Given the description of an element on the screen output the (x, y) to click on. 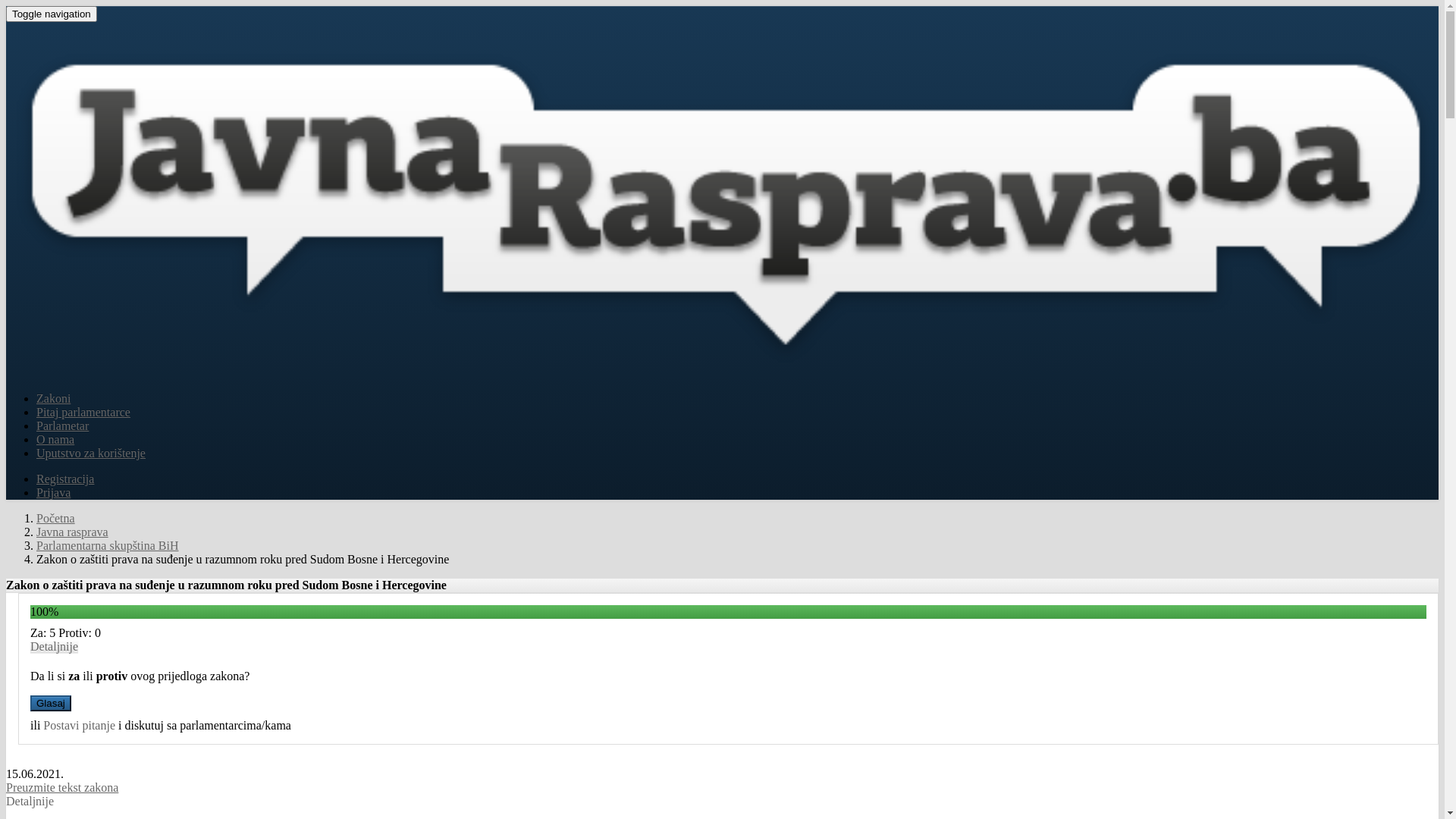
Parlametar Element type: text (62, 425)
Detaljnije Element type: text (29, 800)
Pitaj parlamentarce Element type: text (83, 411)
Glasaj Element type: text (50, 703)
Toggle navigation Element type: text (51, 13)
Postavi pitanje Element type: text (79, 724)
Detaljnije Element type: text (54, 646)
Javna rasprava Element type: text (72, 531)
Registracija Element type: text (65, 478)
Prijava Element type: text (53, 492)
Preuzmite tekst zakona Element type: text (62, 787)
O nama Element type: text (55, 439)
Zakoni Element type: text (53, 398)
